Given the description of an element on the screen output the (x, y) to click on. 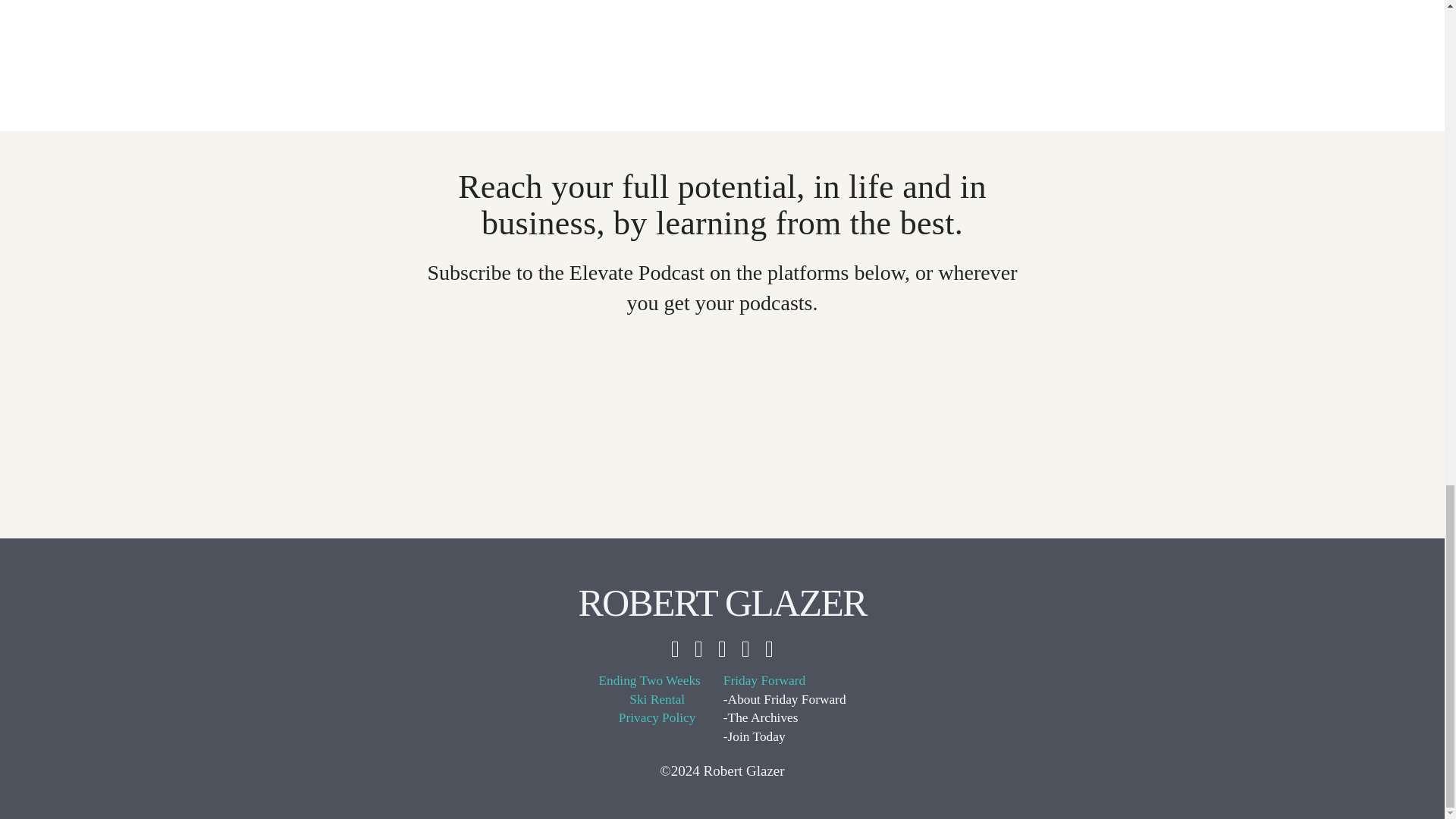
Privacy Policy (656, 718)
Ski Rental (656, 700)
Ending Two Weeks (649, 681)
ROBERT GLAZER (722, 602)
